Given the description of an element on the screen output the (x, y) to click on. 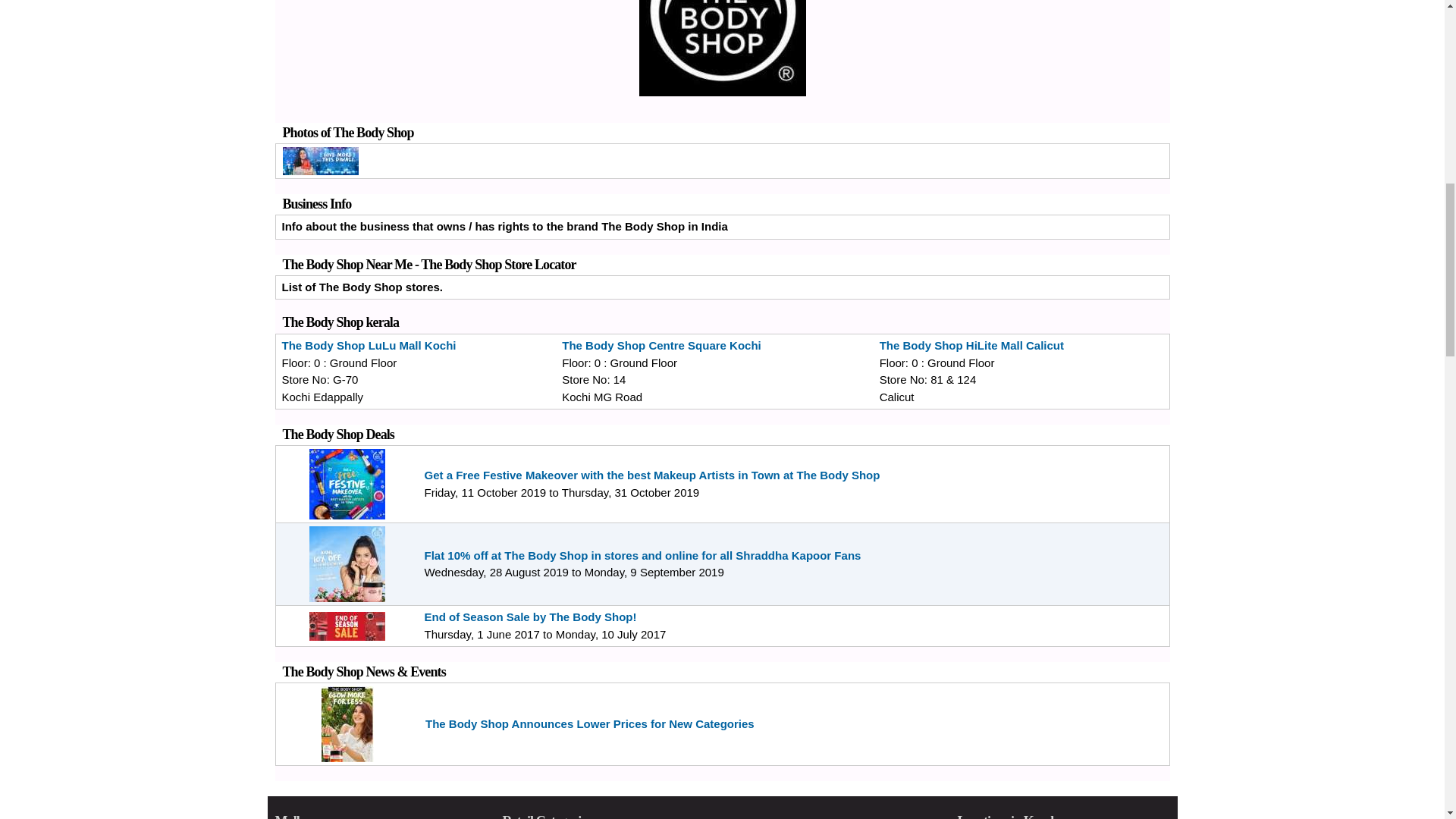
The Body Shop Centre Square Kochi (661, 345)
The Body Shop LuLu Mall Kochi (369, 345)
The Body Shop HiLite Mall Calicut (971, 345)
